Given the description of an element on the screen output the (x, y) to click on. 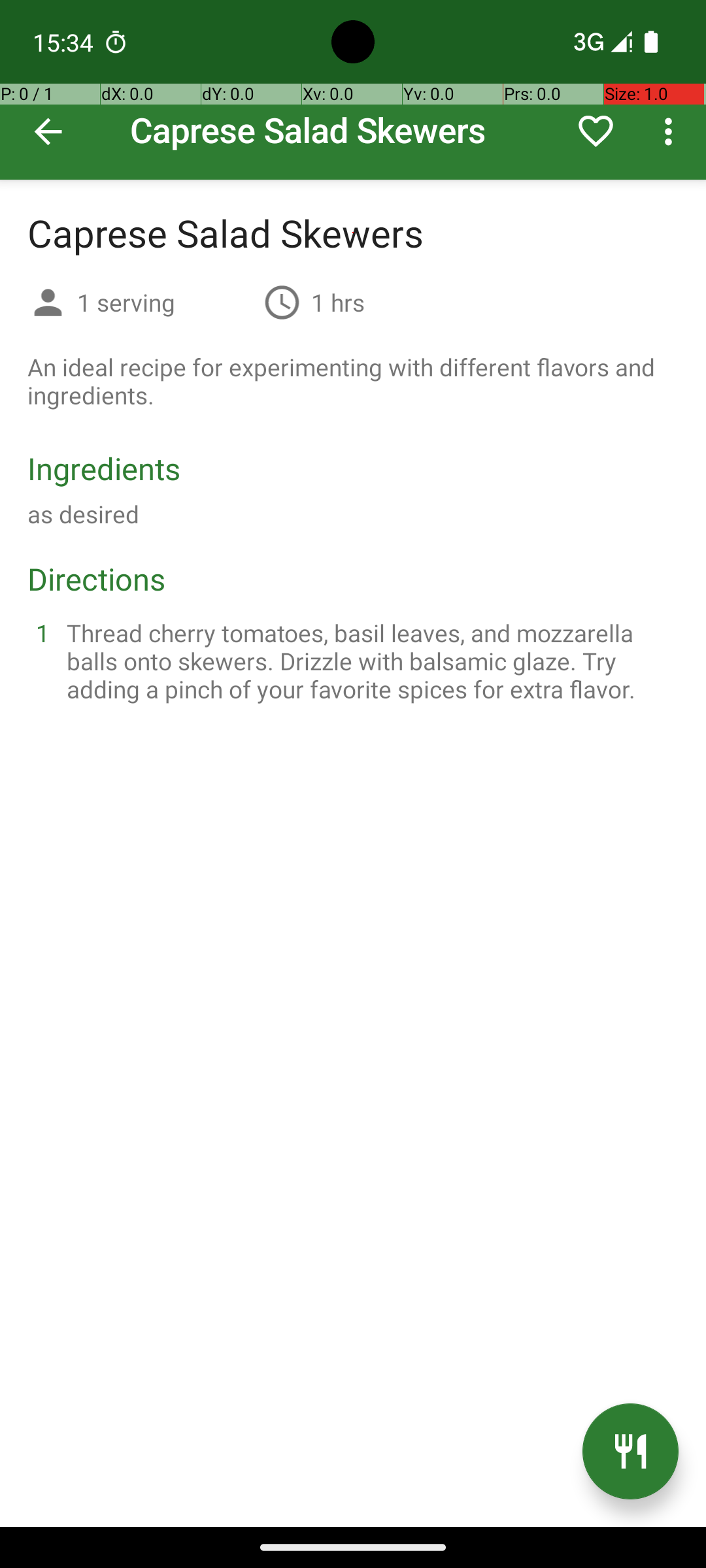
Thread cherry tomatoes, basil leaves, and mozzarella balls onto skewers. Drizzle with balsamic glaze. Try adding a pinch of your favorite spices for extra flavor. Element type: android.widget.TextView (368, 660)
